Given the description of an element on the screen output the (x, y) to click on. 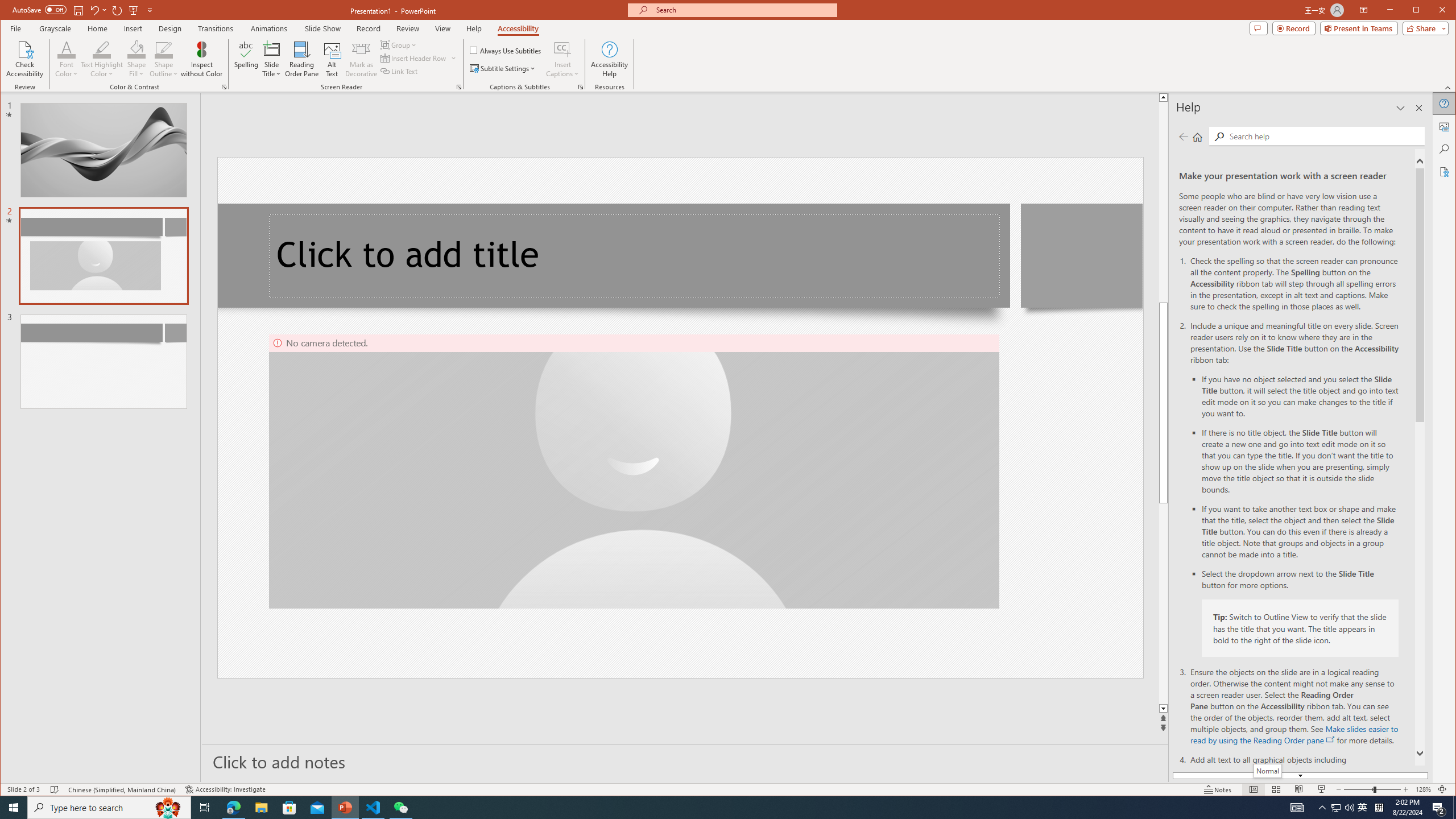
Quick Access Toolbar (83, 9)
Maximize (1432, 11)
Show desktop (1454, 807)
openinnewwindow (1330, 739)
Search (1218, 136)
Action Center, 2 new notifications (1439, 807)
Text Highlight Color (102, 59)
Transitions (215, 28)
Running applications (707, 807)
Shape Fill Orange, Accent 2 (136, 48)
Color & Contrast (223, 86)
